Given the description of an element on the screen output the (x, y) to click on. 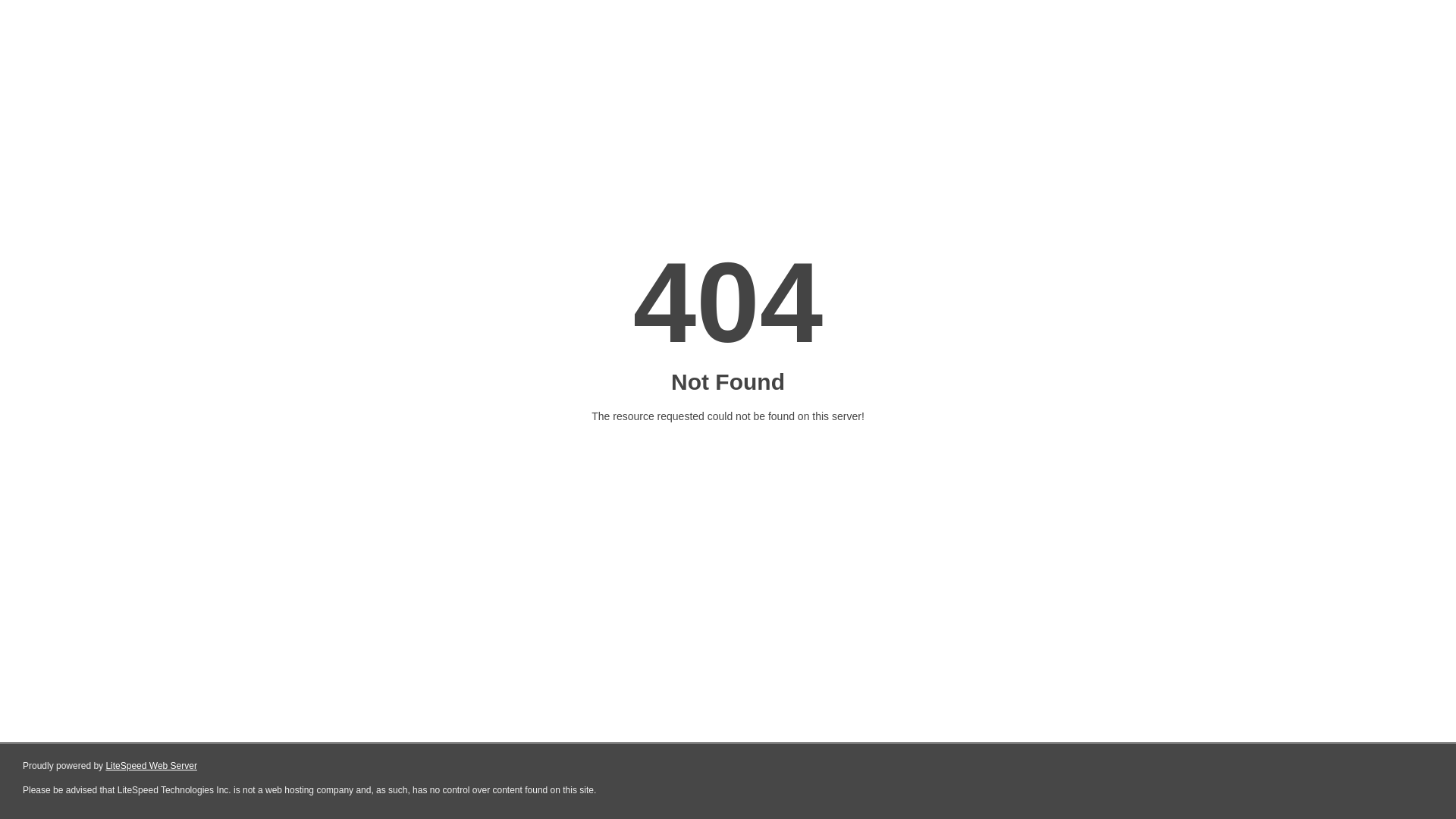
LiteSpeed Web Server Element type: text (151, 765)
